Given the description of an element on the screen output the (x, y) to click on. 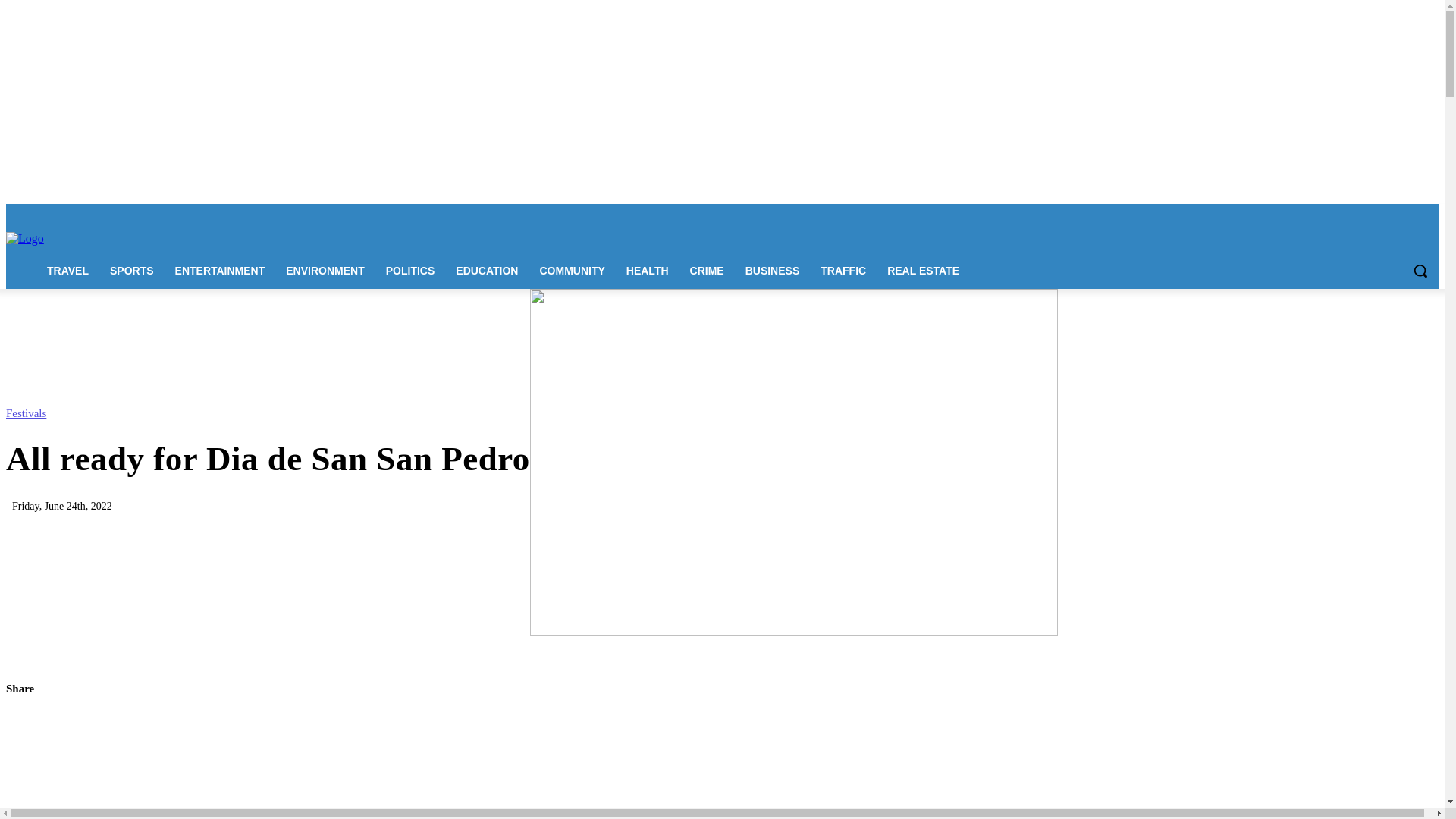
SPORTS (131, 270)
Archives (497, 214)
HEALTH (647, 270)
ENTERTAINMENT (220, 270)
Twitter (1407, 214)
REAL ESTATE (922, 270)
TRAFFIC (842, 270)
CRIME (707, 270)
Instagram (1345, 214)
Classifieds (448, 214)
